Given the description of an element on the screen output the (x, y) to click on. 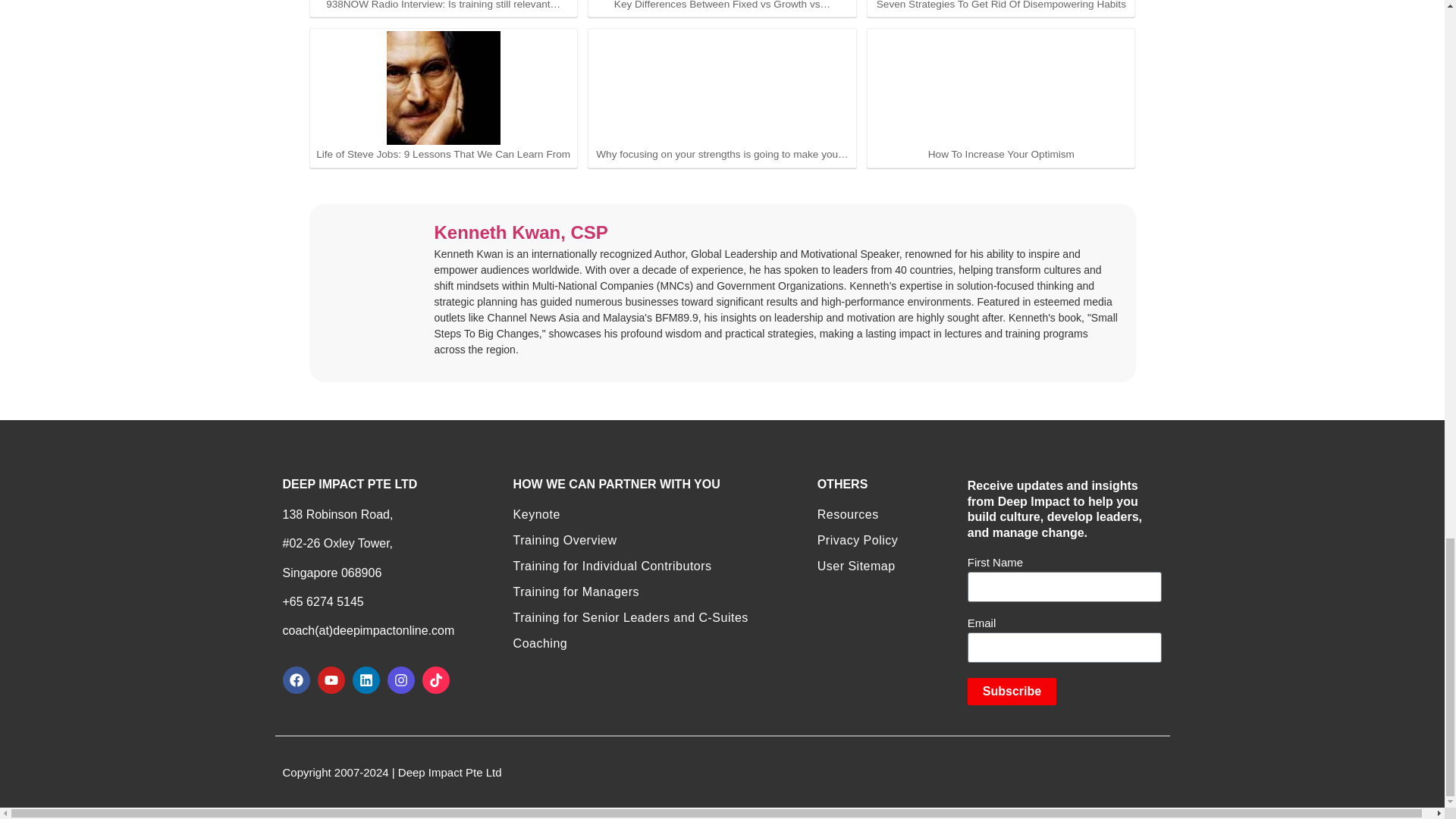
Kenneth Kwan, CSP (520, 234)
How To Increase Your Optimism (1000, 87)
Seven Strategies To Get Rid Of Disempowering Habits (1000, 6)
How To Increase Your Optimism (1000, 96)
Life of Steve Jobs: 9 Lessons That We Can Learn From (444, 96)
Life of Steve Jobs: 9 Lessons That We Can Learn From (443, 87)
